Given the description of an element on the screen output the (x, y) to click on. 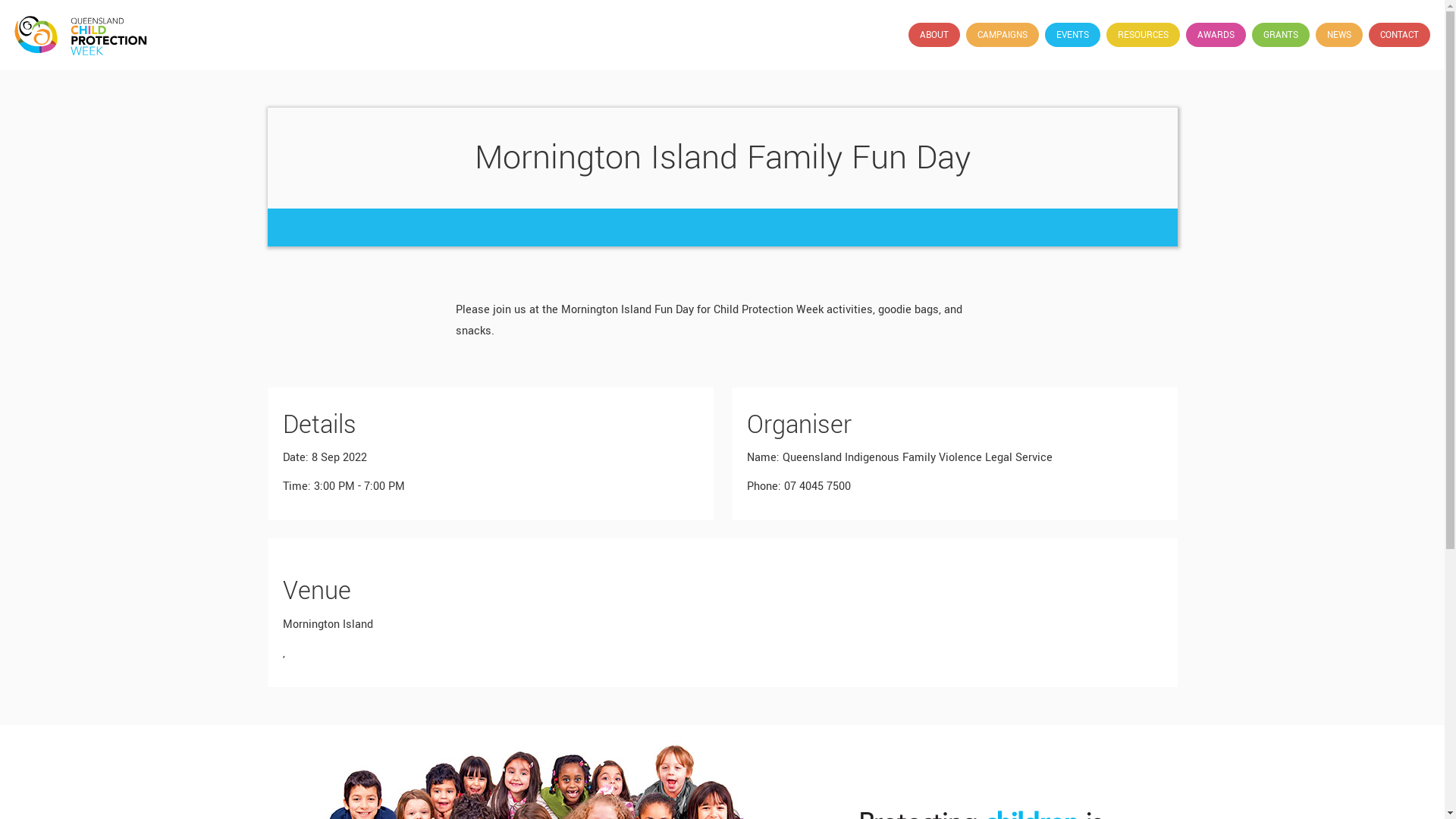
GRANTS Element type: text (1280, 34)
RESOURCES Element type: text (1142, 34)
CONTACT Element type: text (1399, 34)
NEWS Element type: text (1338, 34)
ABOUT Element type: text (934, 34)
EVENTS Element type: text (1072, 34)
CAMPAIGNS Element type: text (1002, 34)
AWARDS Element type: text (1215, 34)
